Given the description of an element on the screen output the (x, y) to click on. 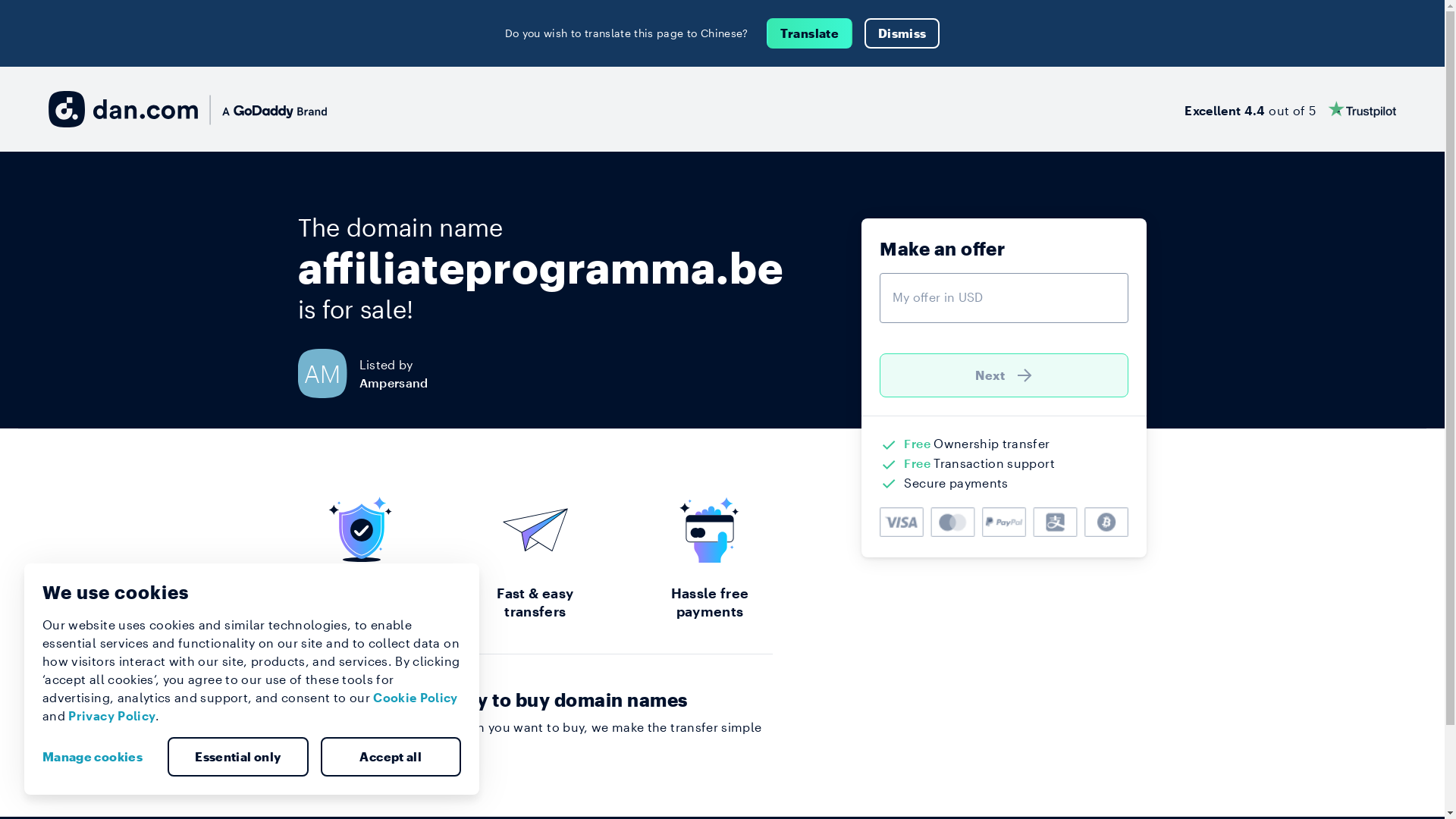
AM Element type: text (327, 373)
Accept all Element type: text (390, 756)
Manage cookies Element type: text (98, 756)
Translate Element type: text (809, 33)
Dismiss Element type: text (901, 33)
Next
) Element type: text (1003, 375)
Privacy Policy Element type: text (111, 715)
Essential only Element type: text (237, 756)
Excellent 4.4 out of 5 Element type: text (1290, 109)
Cookie Policy Element type: text (415, 697)
